Given the description of an element on the screen output the (x, y) to click on. 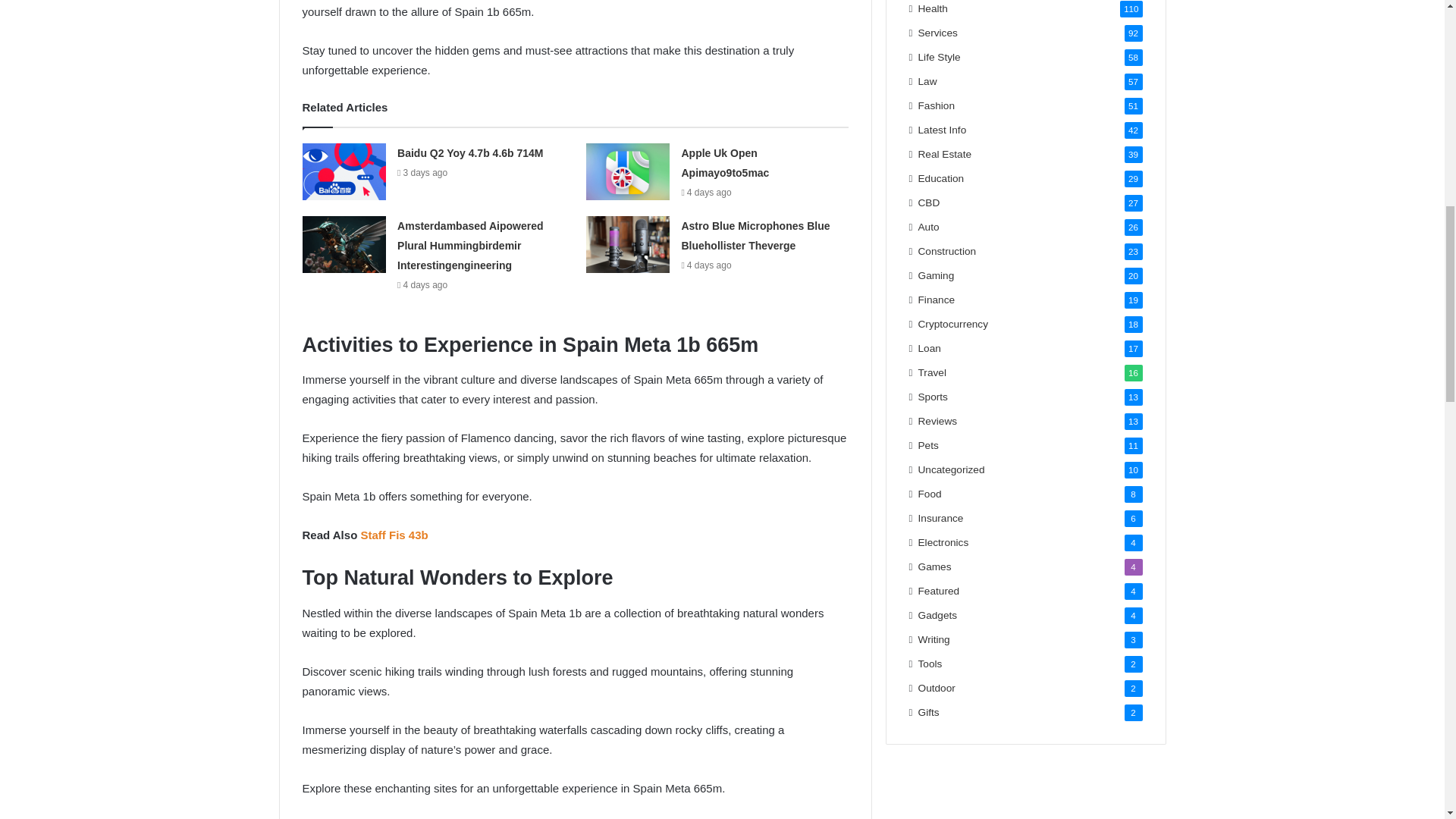
Apple Uk Open Apimayo9to5mac (724, 163)
Astro Blue Microphones Blue Bluehollister Theverge (755, 235)
Baidu Q2 Yoy 4.7b 4.6b 714M (470, 152)
Staff Fis 43b (393, 534)
